Given the description of an element on the screen output the (x, y) to click on. 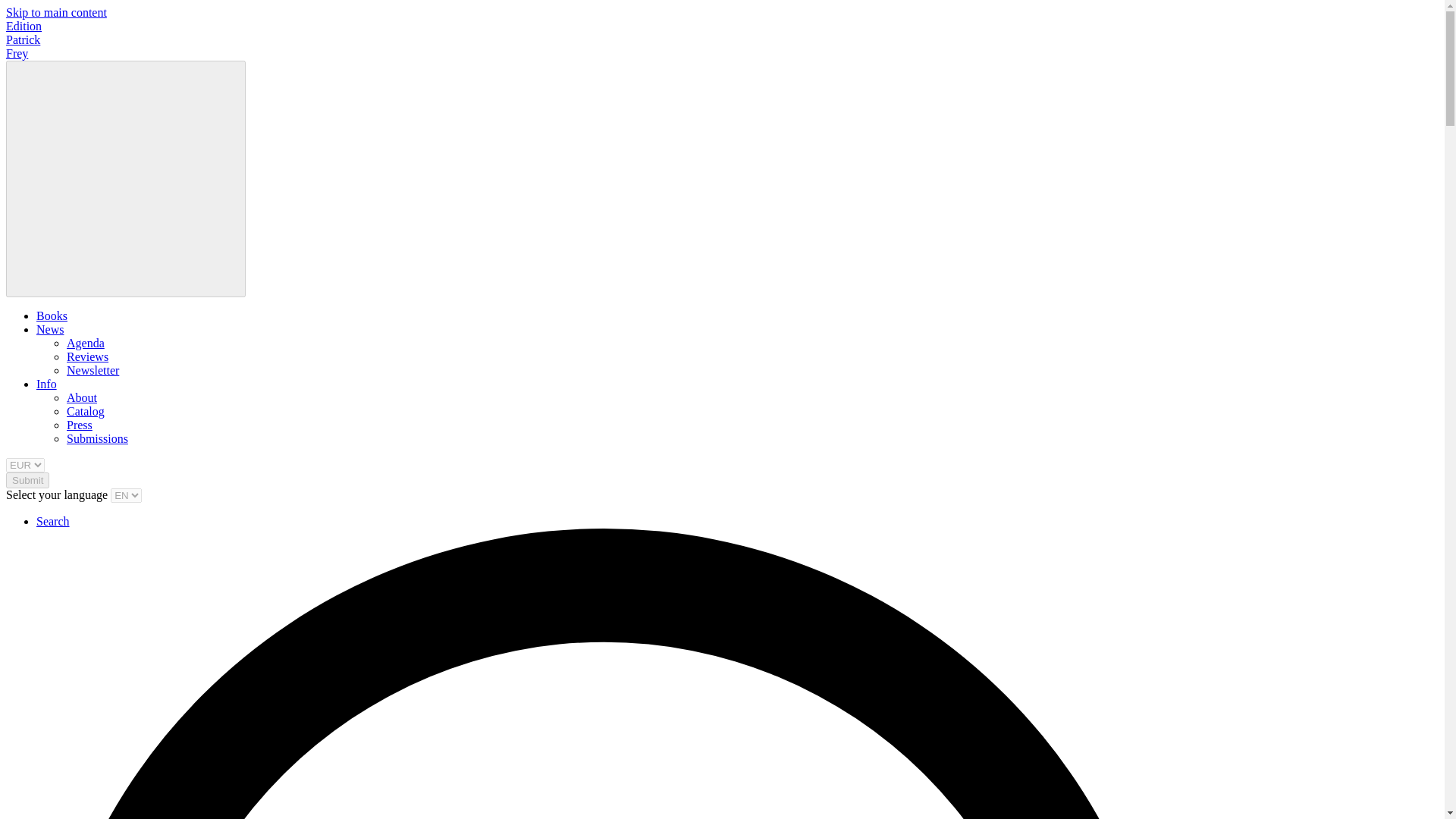
Press (79, 424)
Submit (27, 480)
Skip to main content (55, 11)
Newsletter (92, 369)
Info (46, 383)
Submit (27, 480)
Agenda (85, 342)
Books (51, 315)
Reviews (86, 356)
About (81, 397)
Catalog (85, 410)
News (50, 328)
Submissions (97, 438)
